Given the description of an element on the screen output the (x, y) to click on. 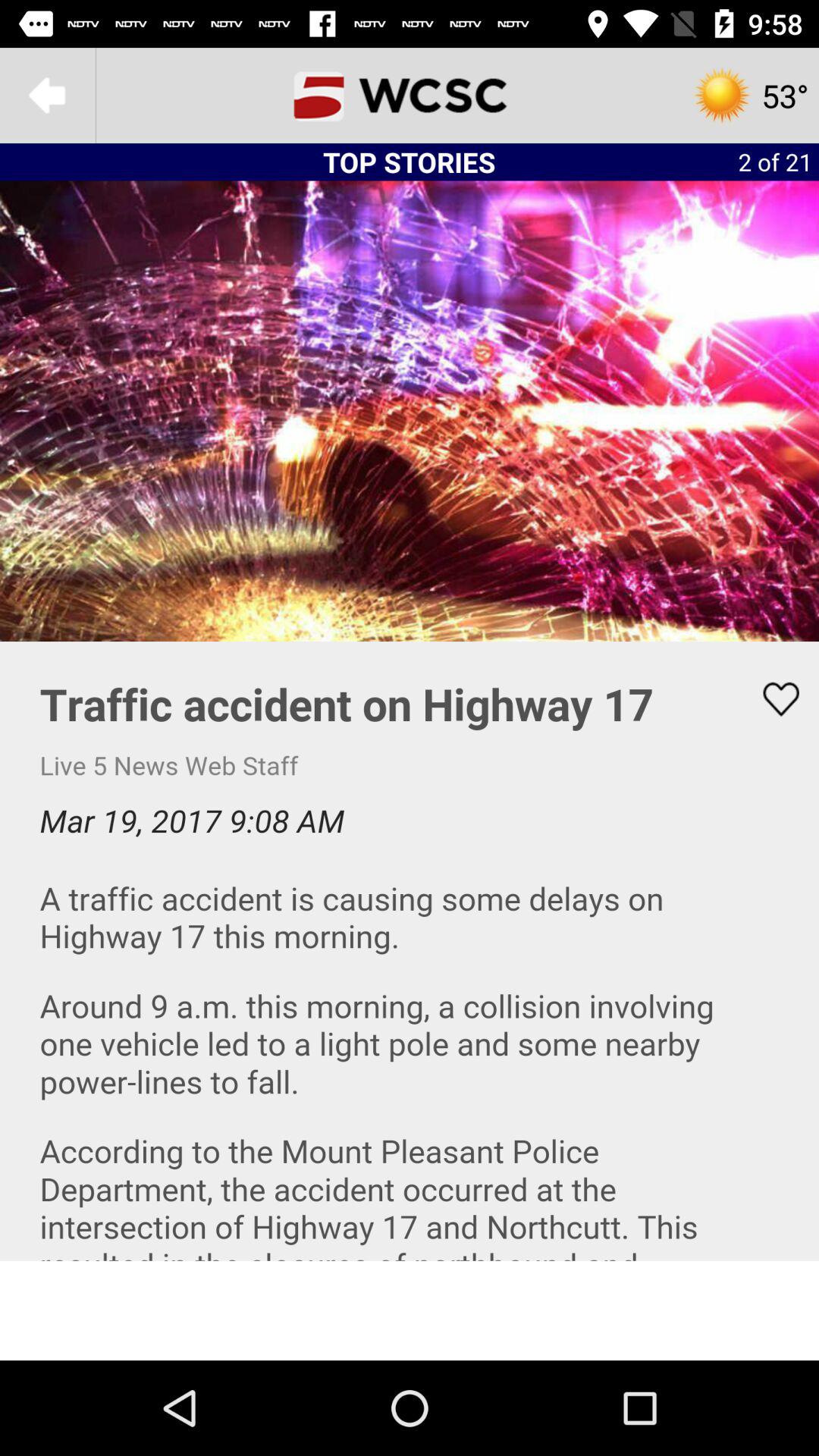
area to scroll and read news (409, 950)
